Given the description of an element on the screen output the (x, y) to click on. 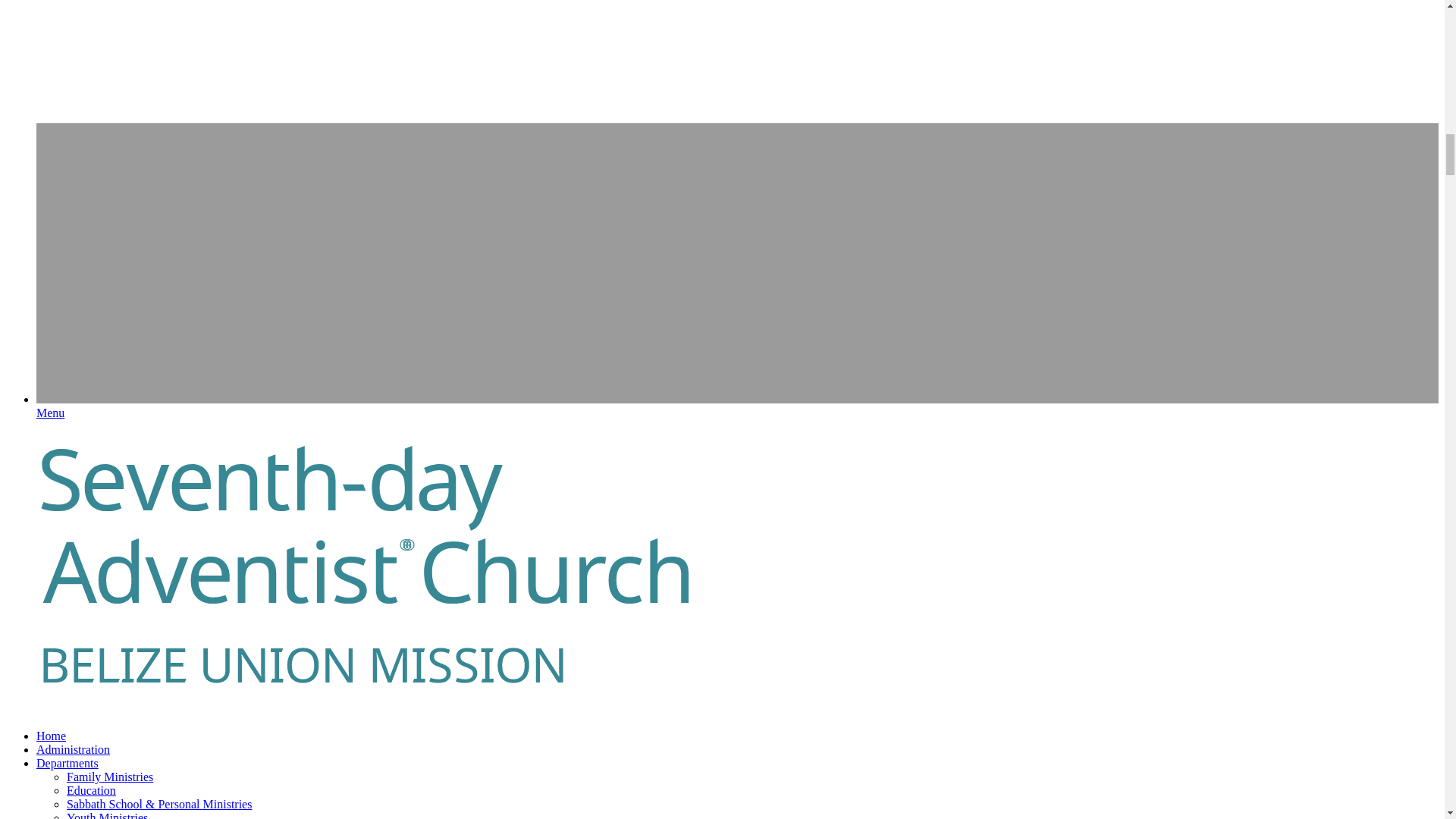
Home (50, 735)
Youth Ministries (107, 815)
Departments (67, 762)
Administration (73, 748)
Family Ministries (109, 776)
Education (91, 789)
